Given the description of an element on the screen output the (x, y) to click on. 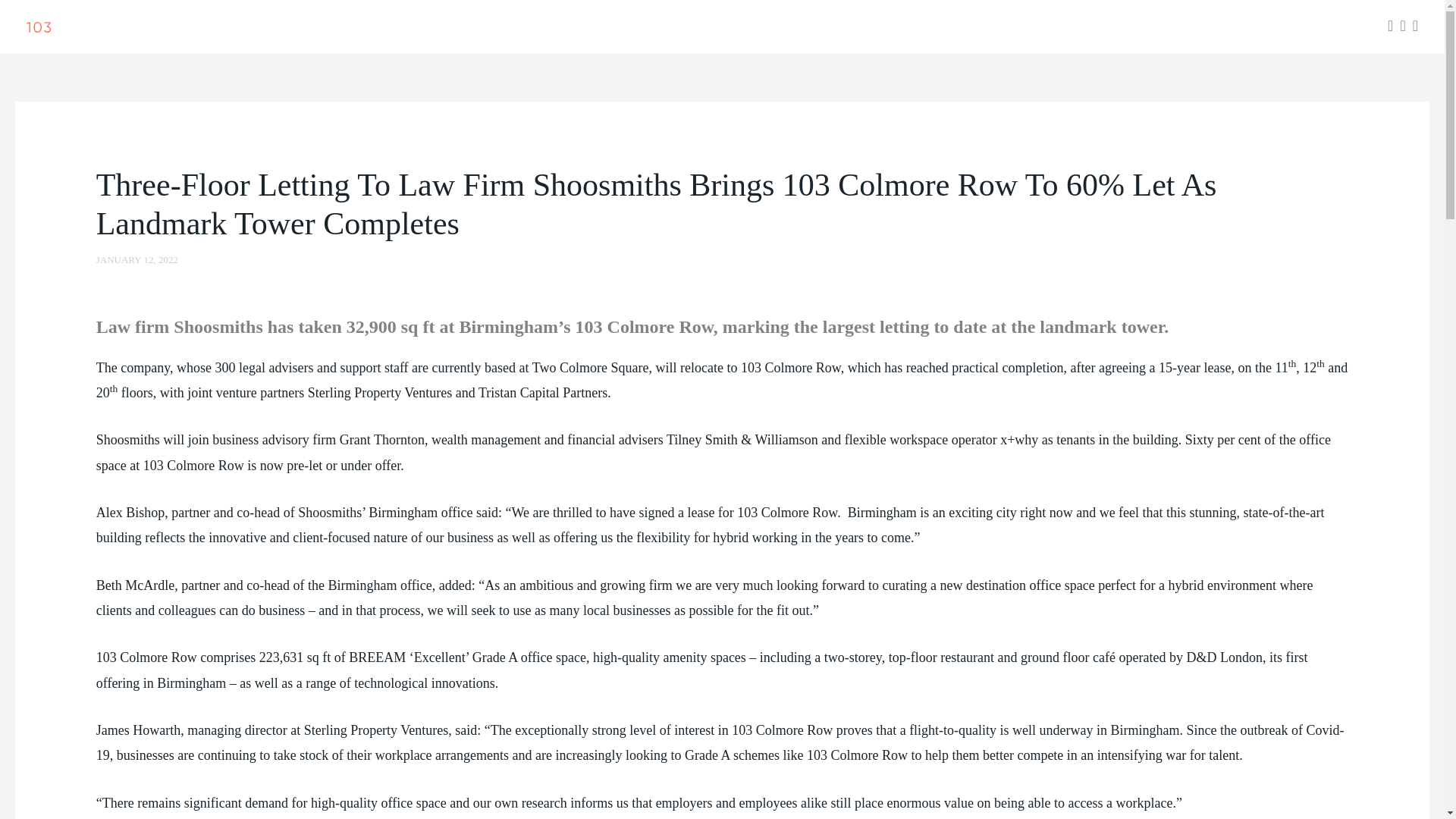
EIGHTEEN (1047, 26)
HOME (768, 26)
CONTACT (1331, 26)
THE RESTAURANT (1161, 26)
THE BUILDING (864, 26)
NEWS (1261, 26)
THE APP (967, 26)
